Given the description of an element on the screen output the (x, y) to click on. 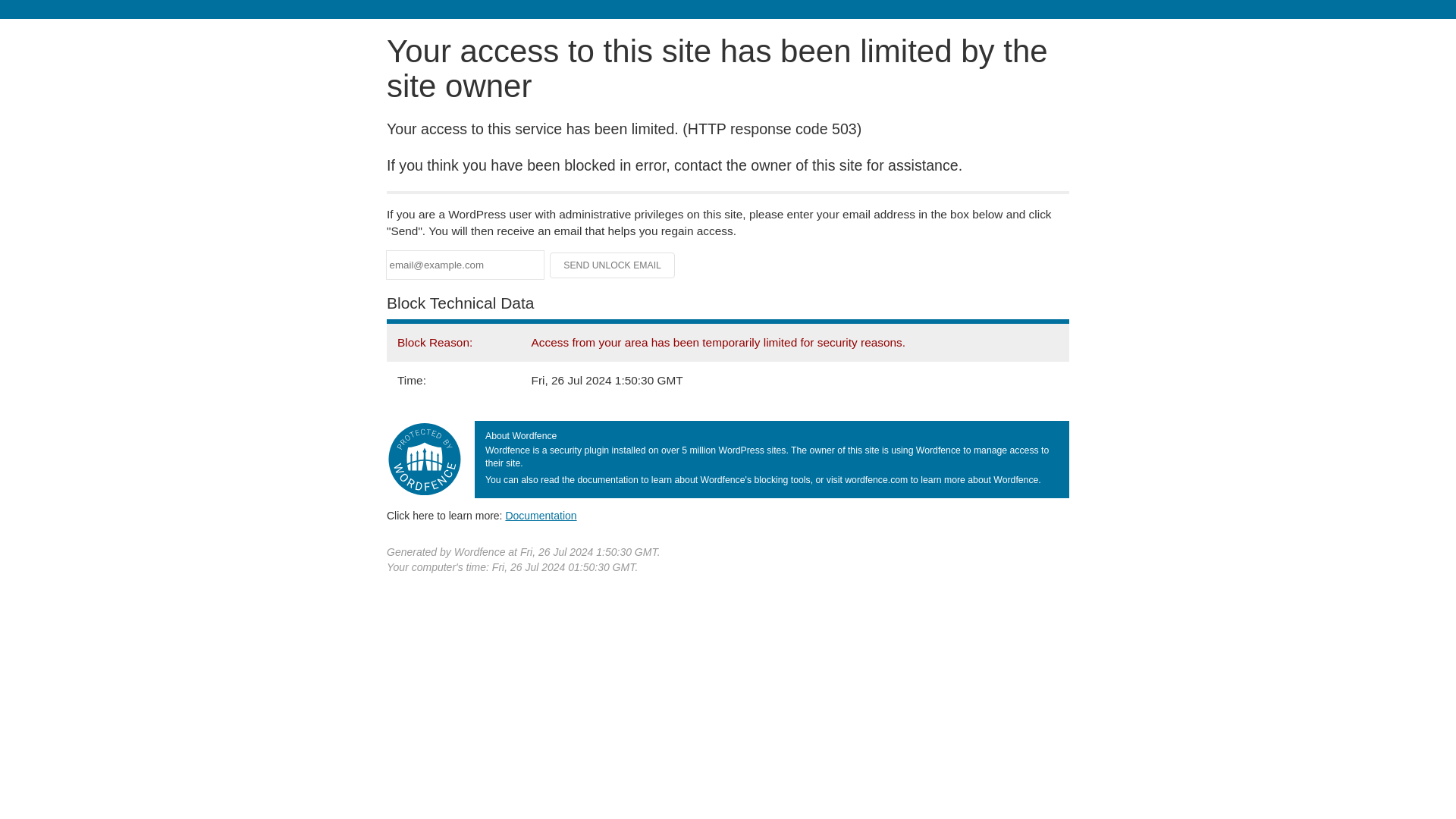
Documentation (540, 515)
Send Unlock Email (612, 265)
Send Unlock Email (612, 265)
